Given the description of an element on the screen output the (x, y) to click on. 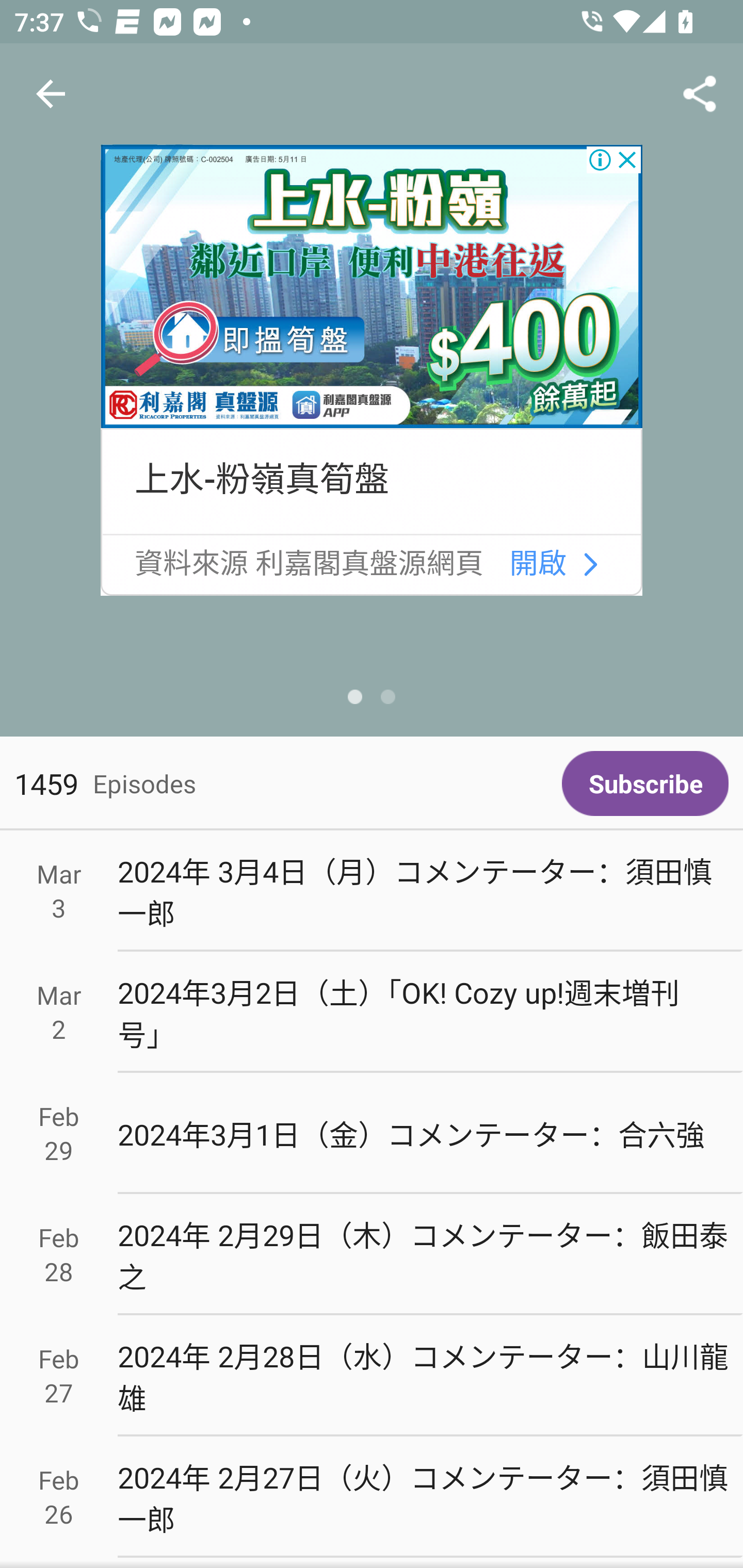
Navigate up (50, 93)
Share... (699, 93)
B30001746 (371, 286)
上水-粉嶺真筍盤 (260, 479)
B30001746 (589, 564)
資料來源 利嘉閣真盤源網頁 (308, 564)
開啟 (538, 564)
Subscribe (644, 783)
Mar 3 2024年 3月4日（月）コメンテーター：須田慎一郎 (371, 891)
Mar 2 2024年3月2日（土）「OK! Cozy up!週末増刊号」 (371, 1011)
Feb 29 2024年3月1日（金）コメンテーター：合六強 (371, 1133)
Feb 28 2024年 2月29日（木）コメンテーター：飯田泰之 (371, 1254)
Feb 27 2024年 2月28日（水）コメンテーター：山川龍雄 (371, 1375)
Feb 26 2024年 2月27日（火）コメンテーター：須田慎一郎 (371, 1496)
